Given the description of an element on the screen output the (x, y) to click on. 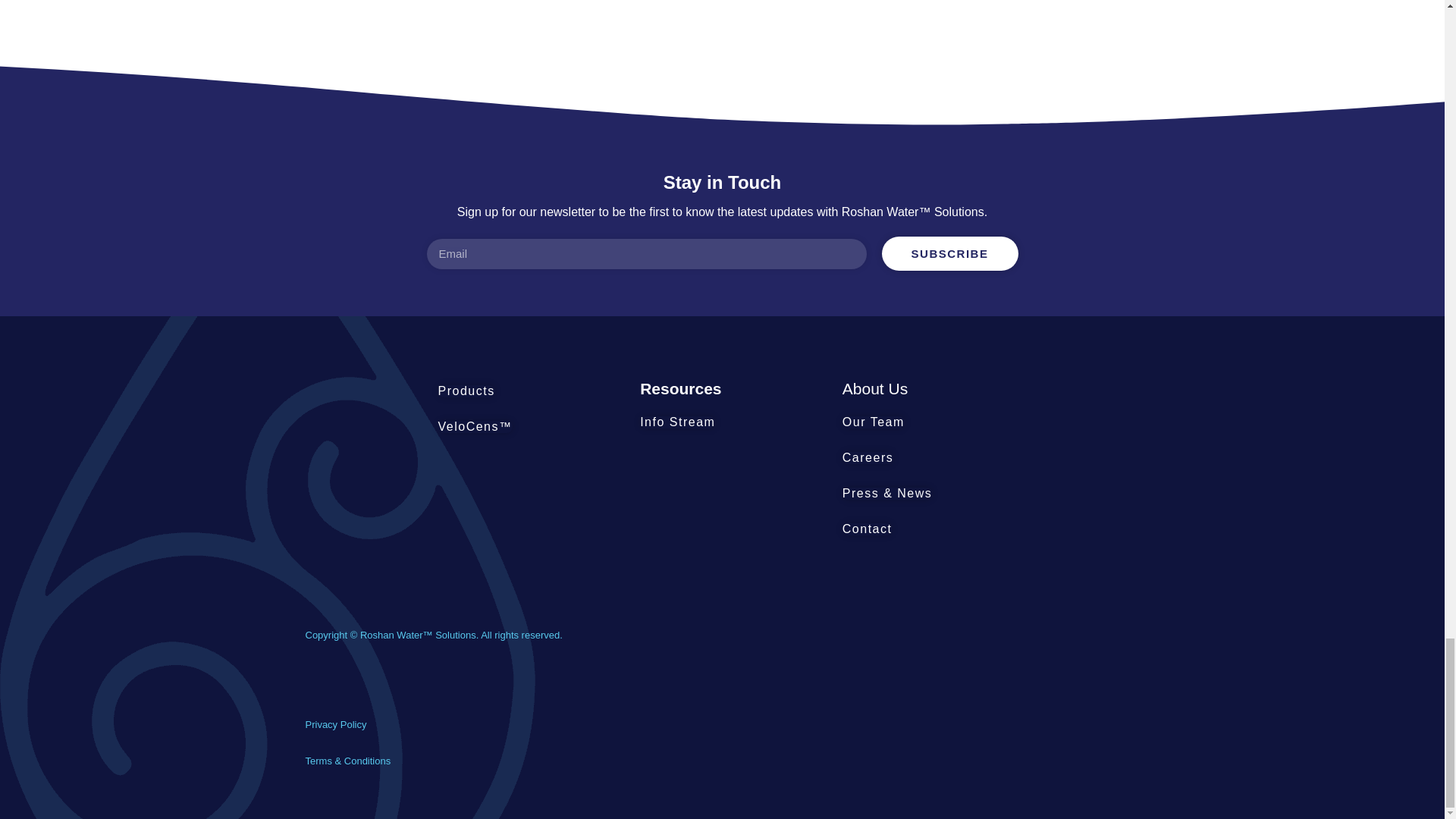
SUBSCRIBE (948, 253)
Products (466, 390)
